Given the description of an element on the screen output the (x, y) to click on. 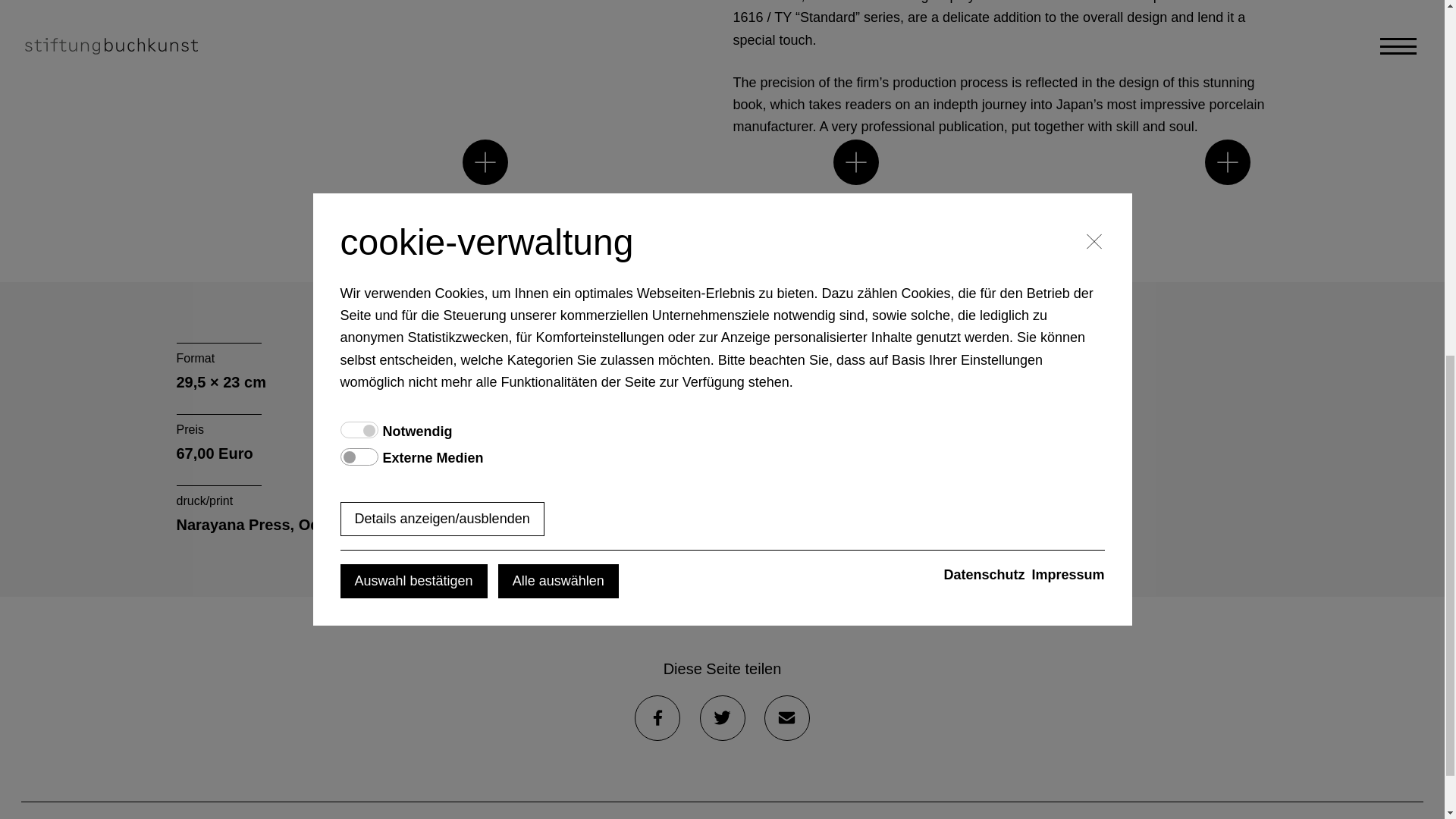
E-Mail (786, 718)
Twitter (721, 718)
Facebook (656, 718)
